Given the description of an element on the screen output the (x, y) to click on. 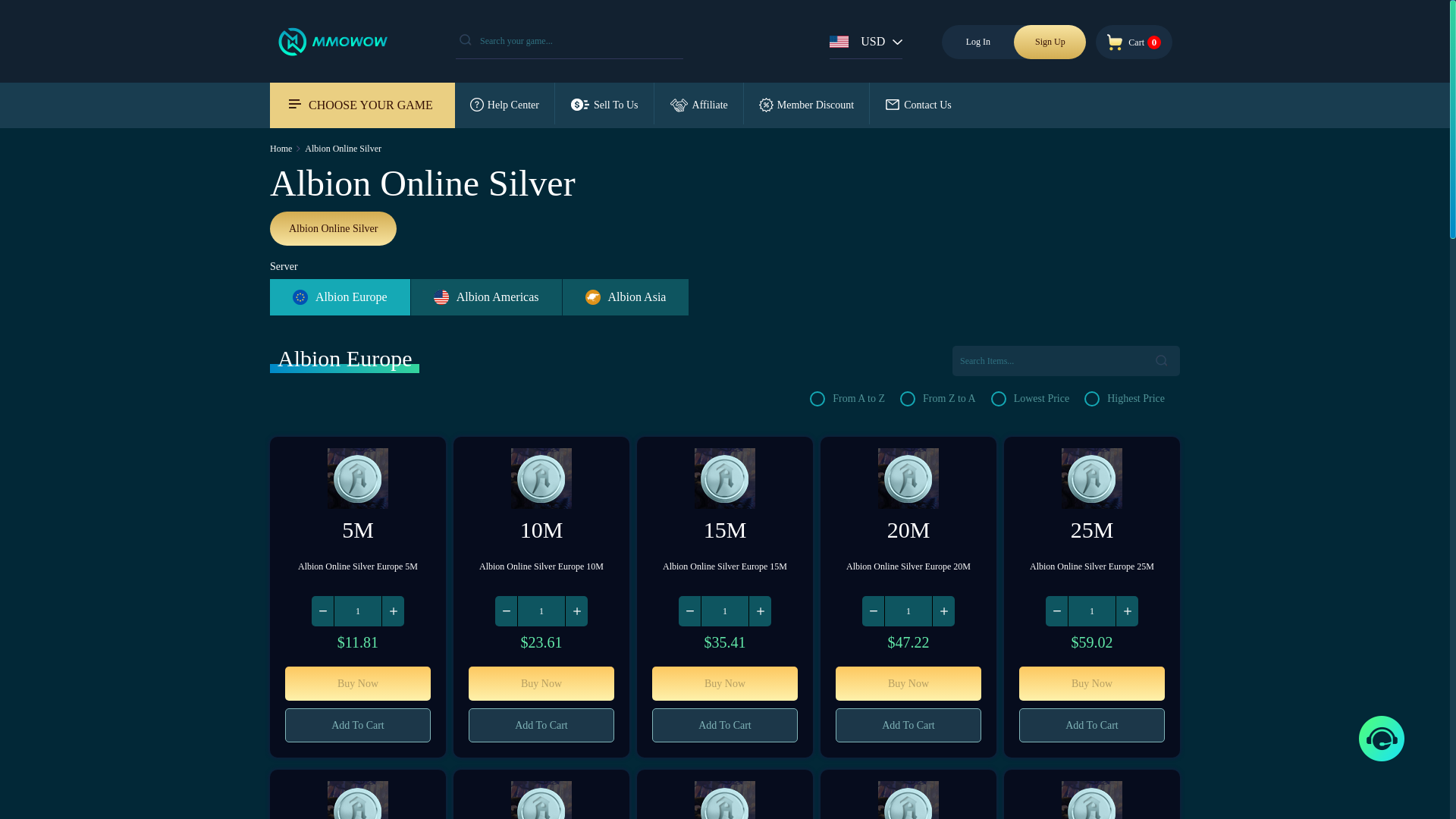
1 (908, 611)
Log In (977, 41)
1 (724, 611)
1 (1091, 611)
1 (357, 611)
1 (541, 611)
Sign Up (1049, 41)
